Given the description of an element on the screen output the (x, y) to click on. 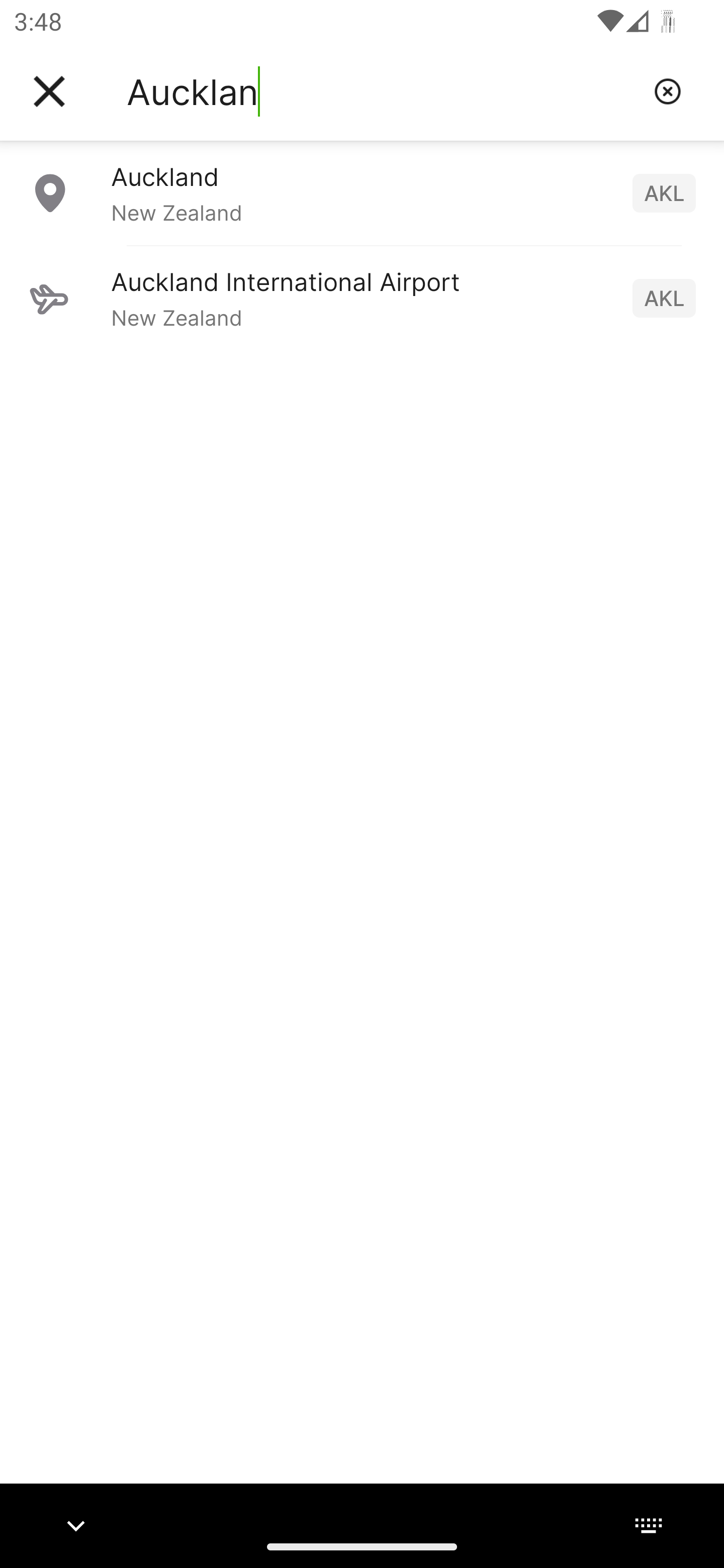
Aucklan (382, 91)
Auckland New Zealand AKL (362, 192)
Auckland International Airport New Zealand AKL (362, 297)
